Given the description of an element on the screen output the (x, y) to click on. 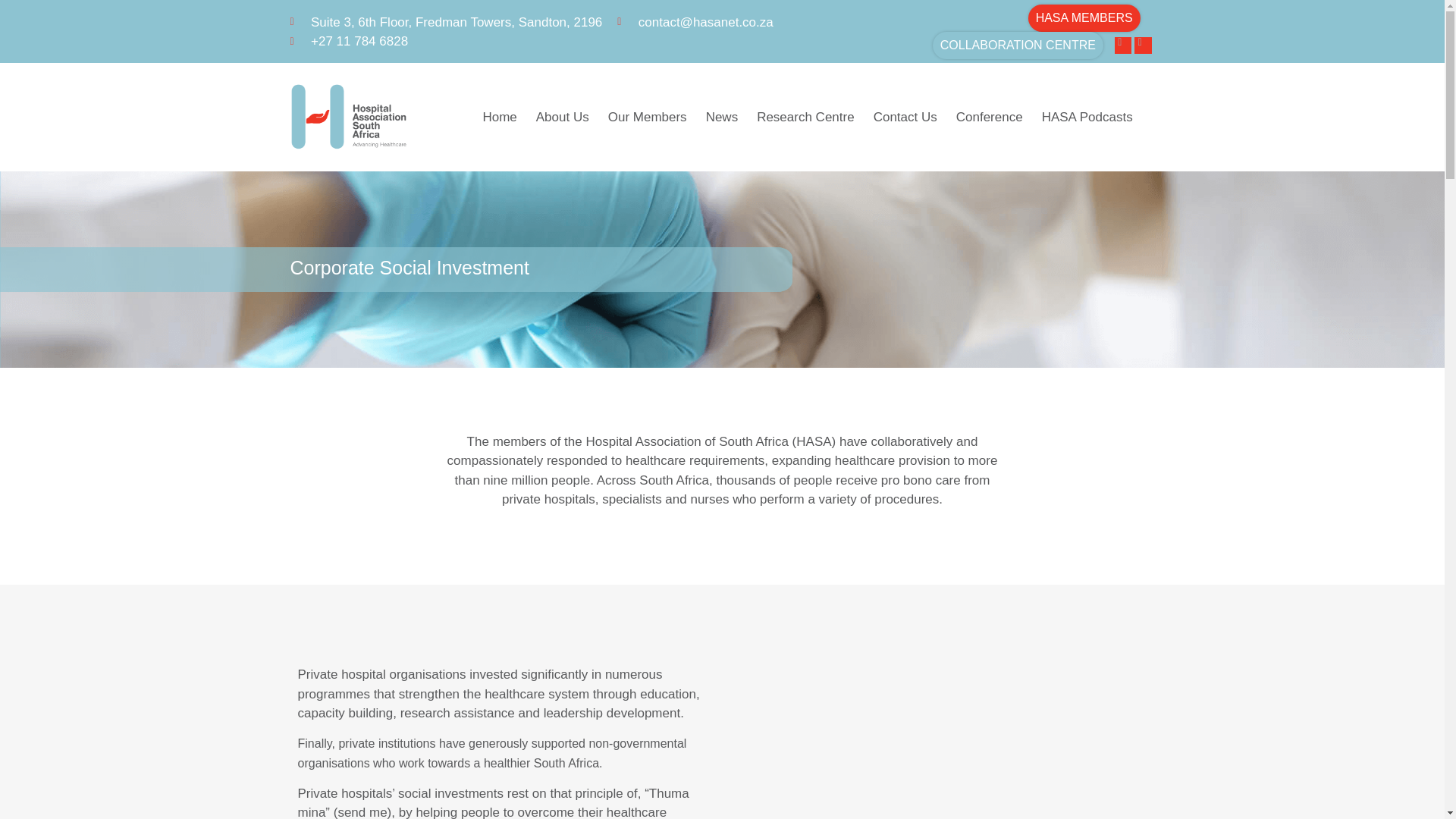
HASA MEMBERS (1083, 17)
Contact Us (905, 117)
Conference (989, 117)
About Us (562, 117)
Our Members (647, 117)
Suite 3, 6th Floor, Fredman Towers, Sandton, 2196 (445, 21)
Research Centre (805, 117)
COLLABORATION CENTRE (1018, 44)
HASA Podcasts (1087, 117)
News (722, 117)
